Given the description of an element on the screen output the (x, y) to click on. 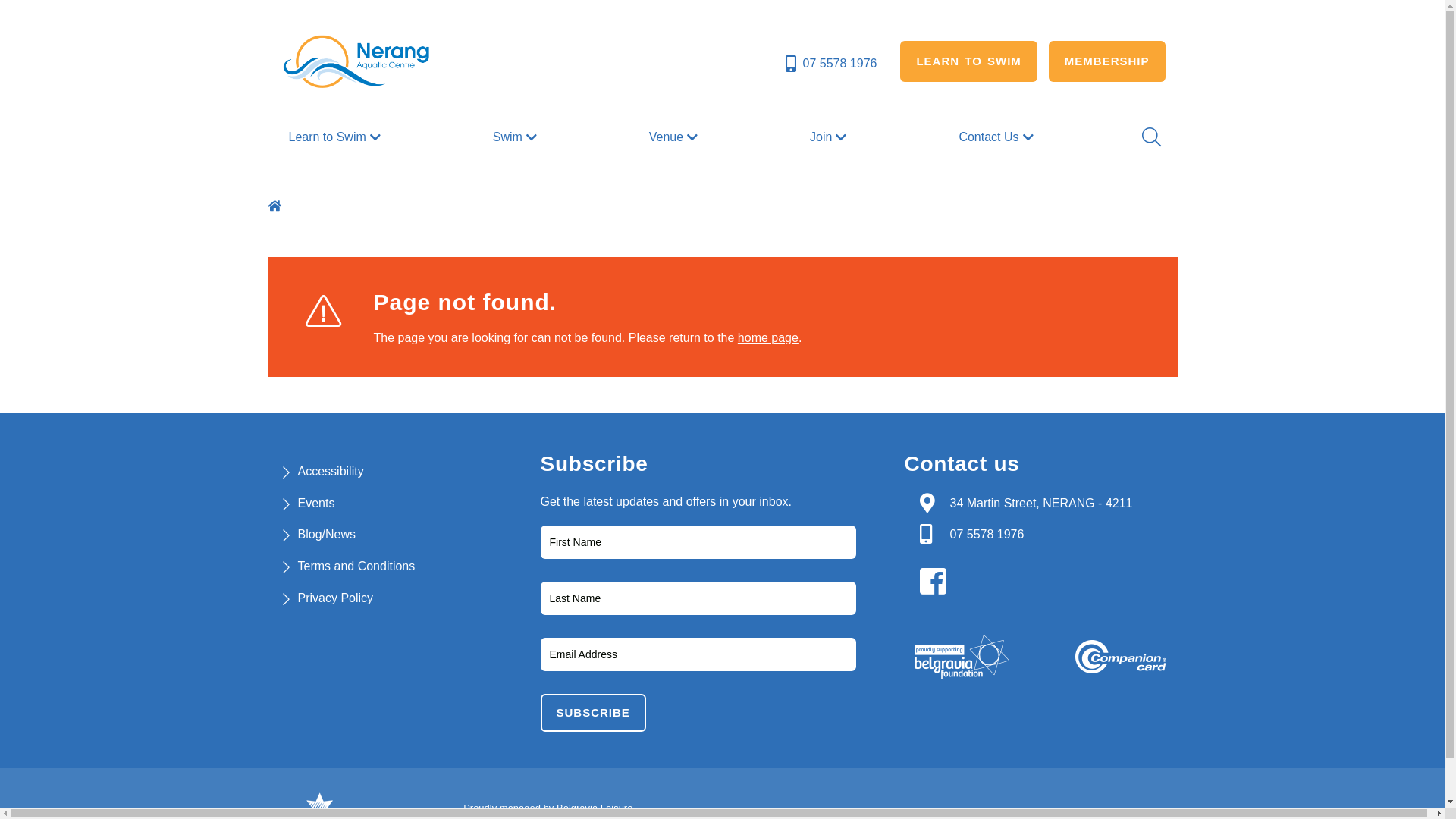
Learn to Swim Element type: text (335, 137)
Terms and Conditions Element type: text (355, 565)
Events Element type: text (315, 502)
Search Element type: text (1150, 137)
Swim Element type: text (516, 137)
Join Element type: text (829, 137)
Blog/News Element type: text (325, 533)
Accessibility Element type: text (330, 470)
LEARN TO SWIM Element type: text (968, 60)
07 5578 1976 Element type: text (986, 533)
home page Element type: text (767, 337)
Proudly managed by Belgravia Leisure Element type: text (547, 807)
Contact Us Element type: text (997, 137)
  Element type: text (936, 581)
subscribe Element type: text (592, 712)
Venue Element type: text (675, 137)
MEMBERSHIP Element type: text (1106, 60)
Privacy Policy Element type: text (335, 597)
  Element type: text (275, 205)
07 5578 1976 Element type: text (829, 63)
